Given the description of an element on the screen output the (x, y) to click on. 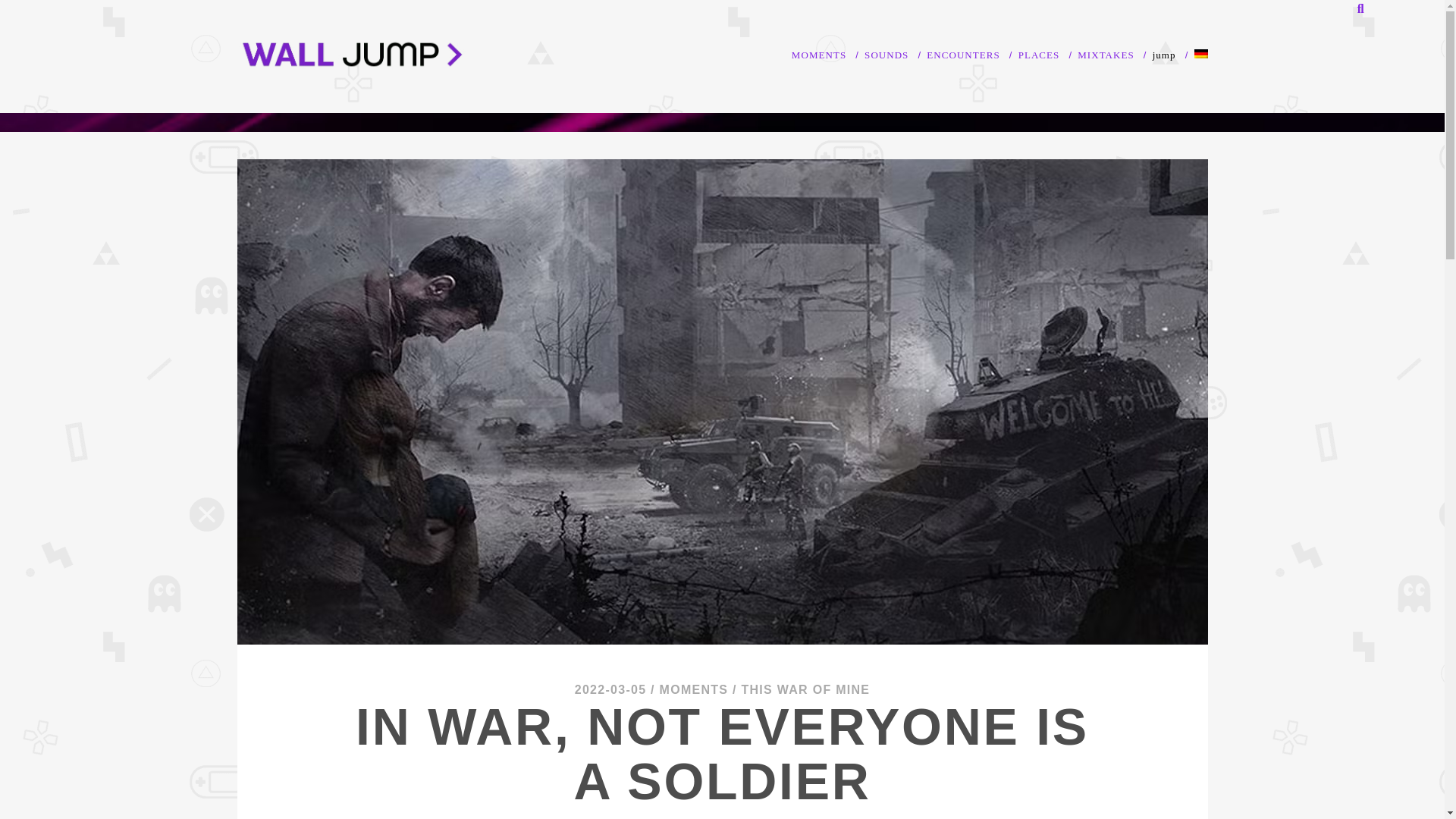
MOMENTS (818, 54)
ENCOUNTERS (962, 54)
View all posts related to the game This War of Mine (805, 689)
jump (1164, 54)
THIS WAR OF MINE (805, 689)
MOMENTS (694, 689)
MIXTAKES (1105, 54)
SOUNDS (886, 54)
PLACES (1038, 54)
